Given the description of an element on the screen output the (x, y) to click on. 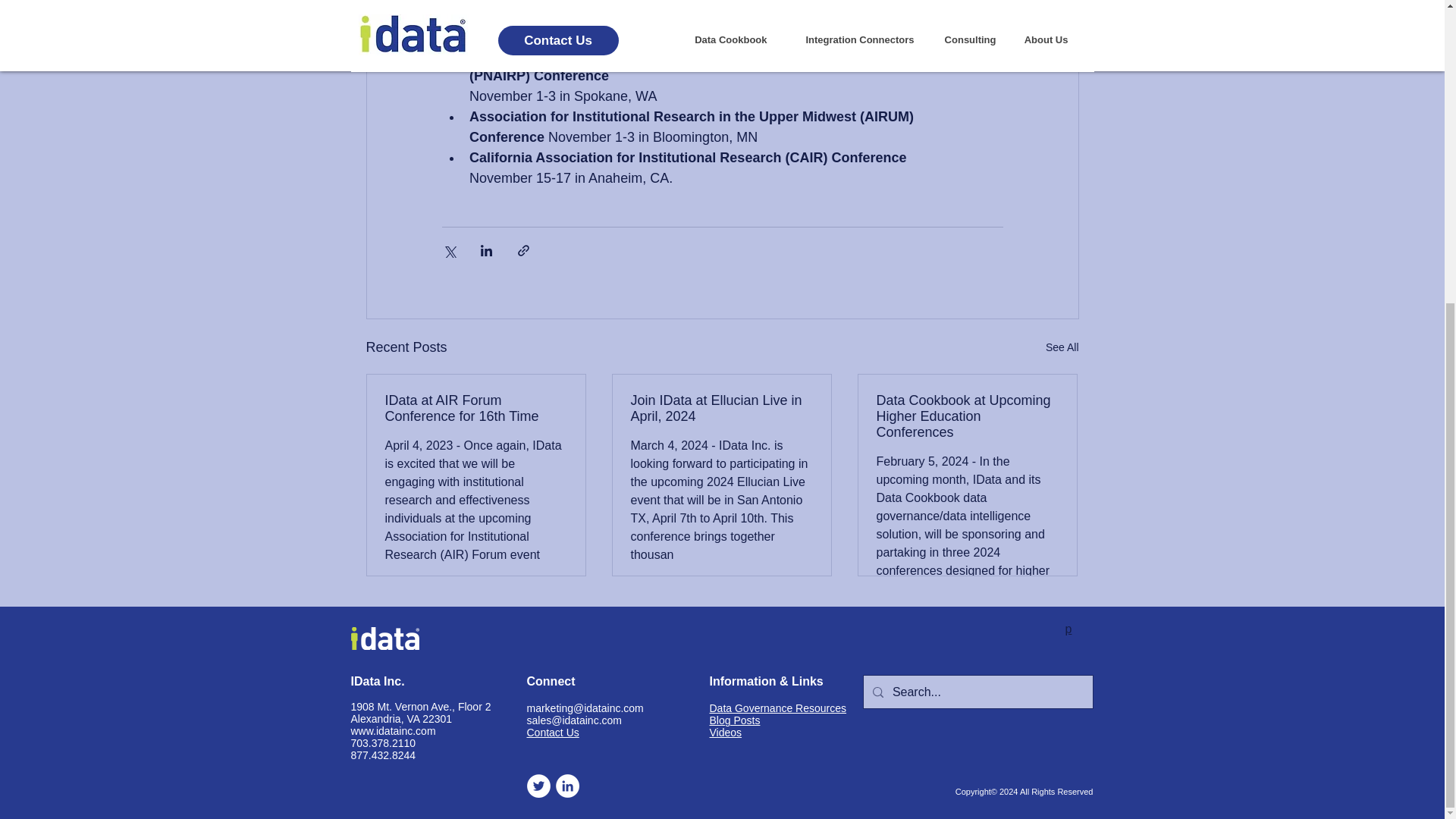
703.378.2110 (382, 743)
See All (1061, 347)
Join IData at Ellucian Live in April, 2024 (721, 409)
Data Governance Resources (778, 707)
877.432.8244 (382, 755)
Data Cookbook at Upcoming Higher Education Conferences (967, 416)
IData at AIR Forum Conference for 16th Time (476, 409)
Contact Us (551, 732)
www.idatainc.com (392, 730)
Blog Posts (735, 720)
